Given the description of an element on the screen output the (x, y) to click on. 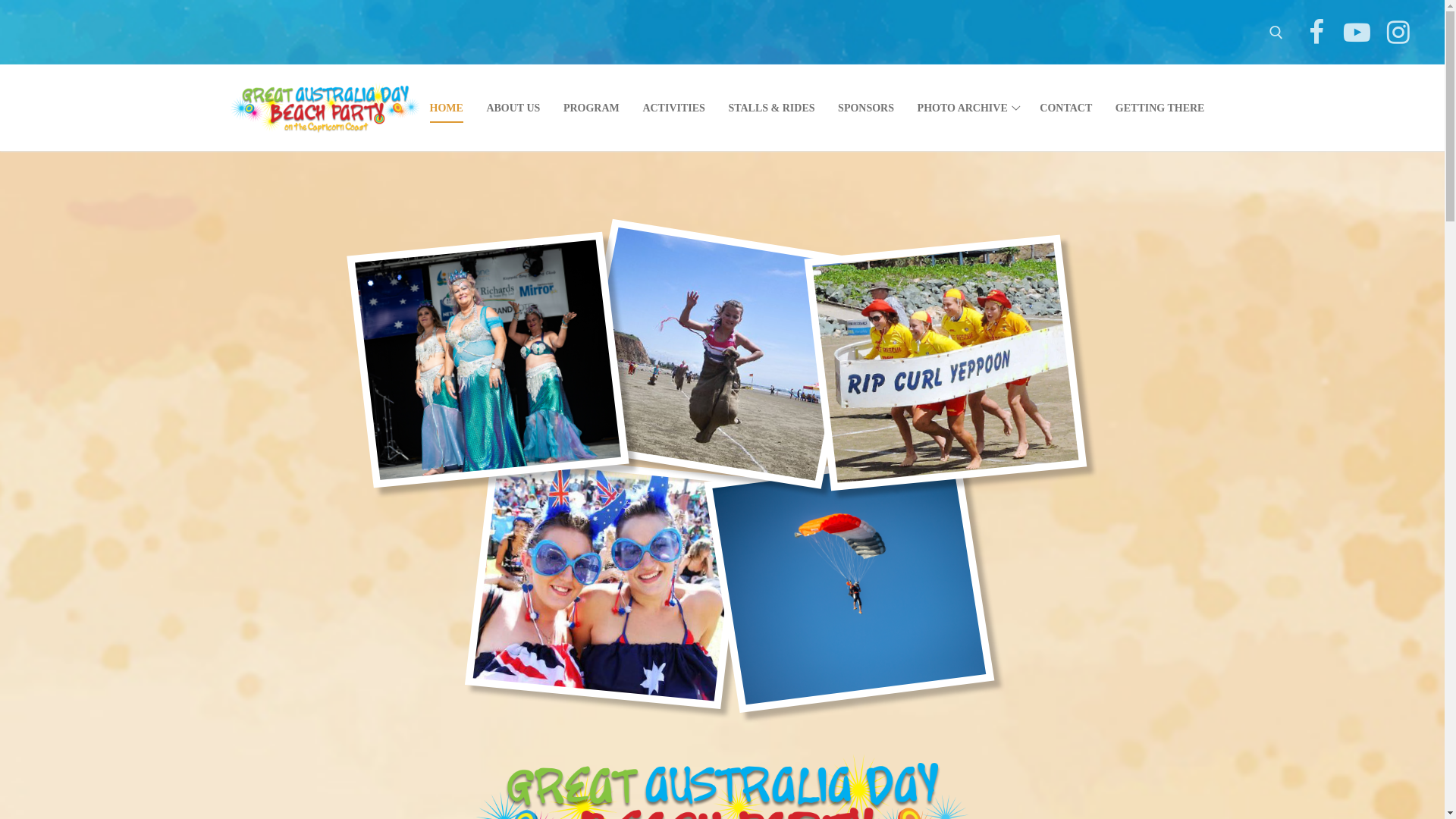
HOME Element type: text (446, 107)
SPONSORS Element type: text (865, 107)
CONTACT Element type: text (1065, 107)
ABOUT US Element type: text (512, 107)
ACTIVITIES Element type: text (673, 107)
STALLS & RIDES Element type: text (771, 107)
PHOTO ARCHIVE
  Element type: text (966, 107)
PROGRAM Element type: text (591, 107)
Facebook Element type: hover (1315, 31)
Youtube Element type: hover (1356, 31)
Instagram Element type: hover (1397, 31)
GETTING THERE Element type: text (1159, 107)
